Given the description of an element on the screen output the (x, y) to click on. 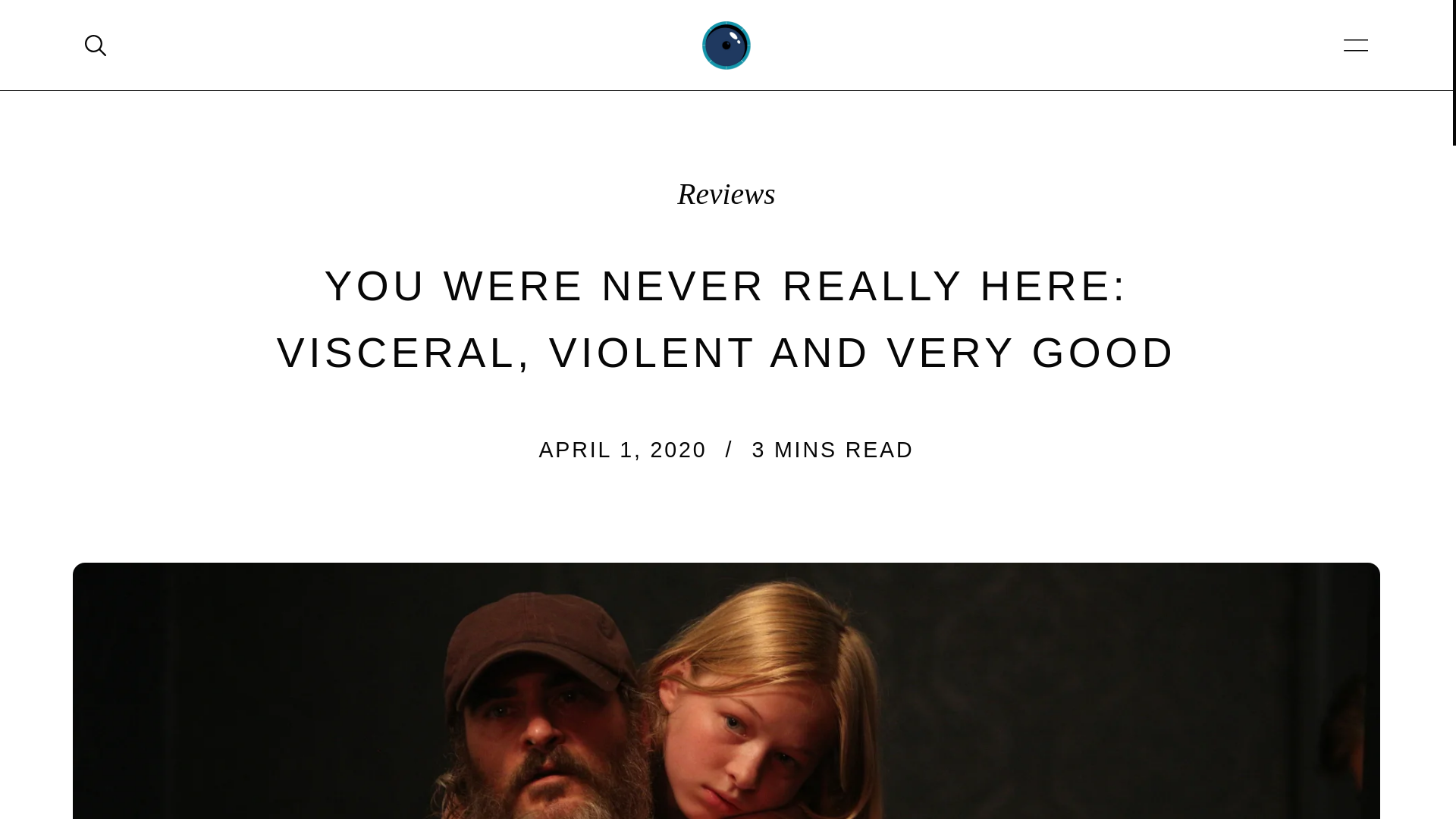
Reviews (725, 194)
